Given the description of an element on the screen output the (x, y) to click on. 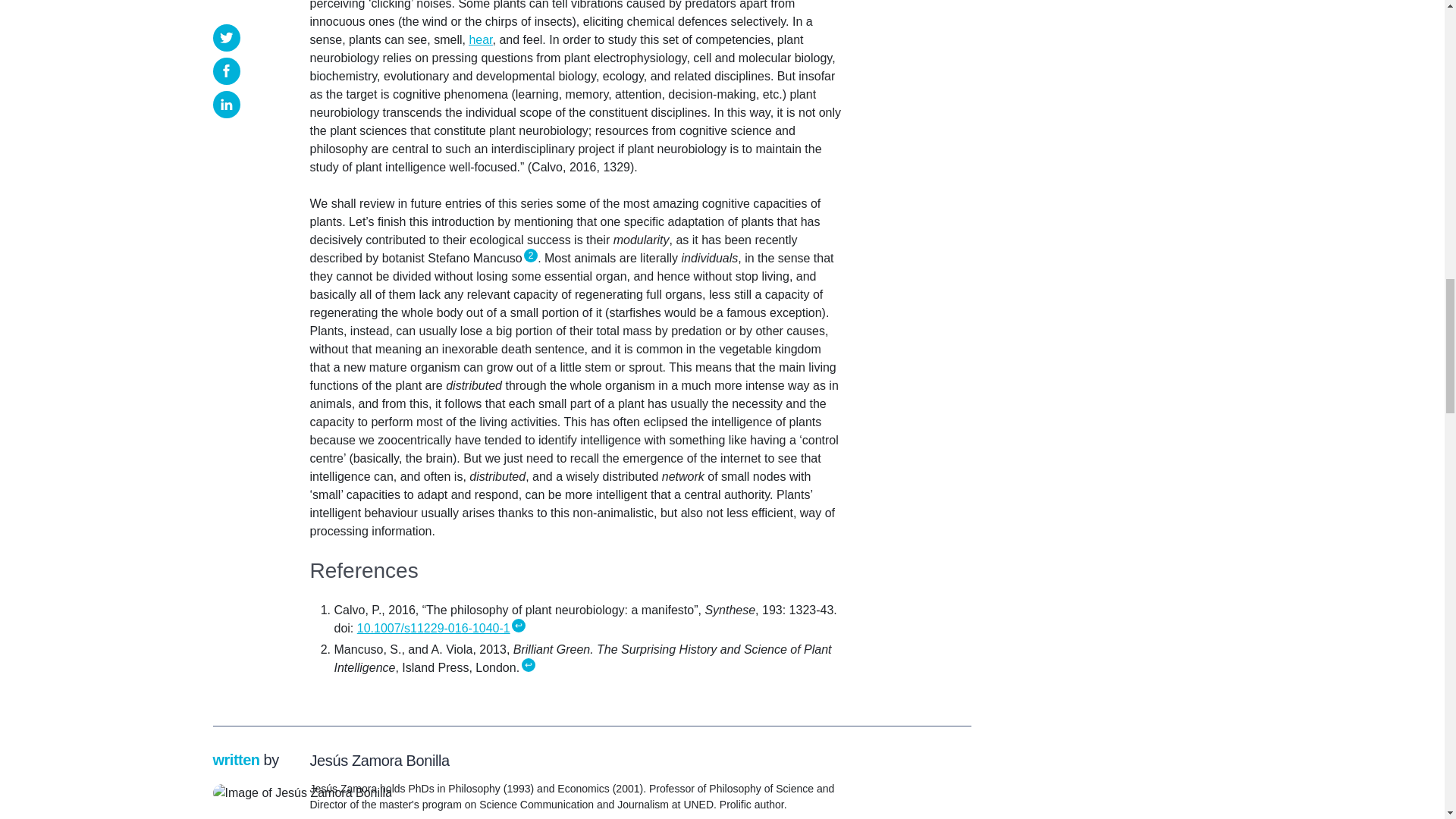
Back to text (528, 664)
Back to text (518, 625)
